Given the description of an element on the screen output the (x, y) to click on. 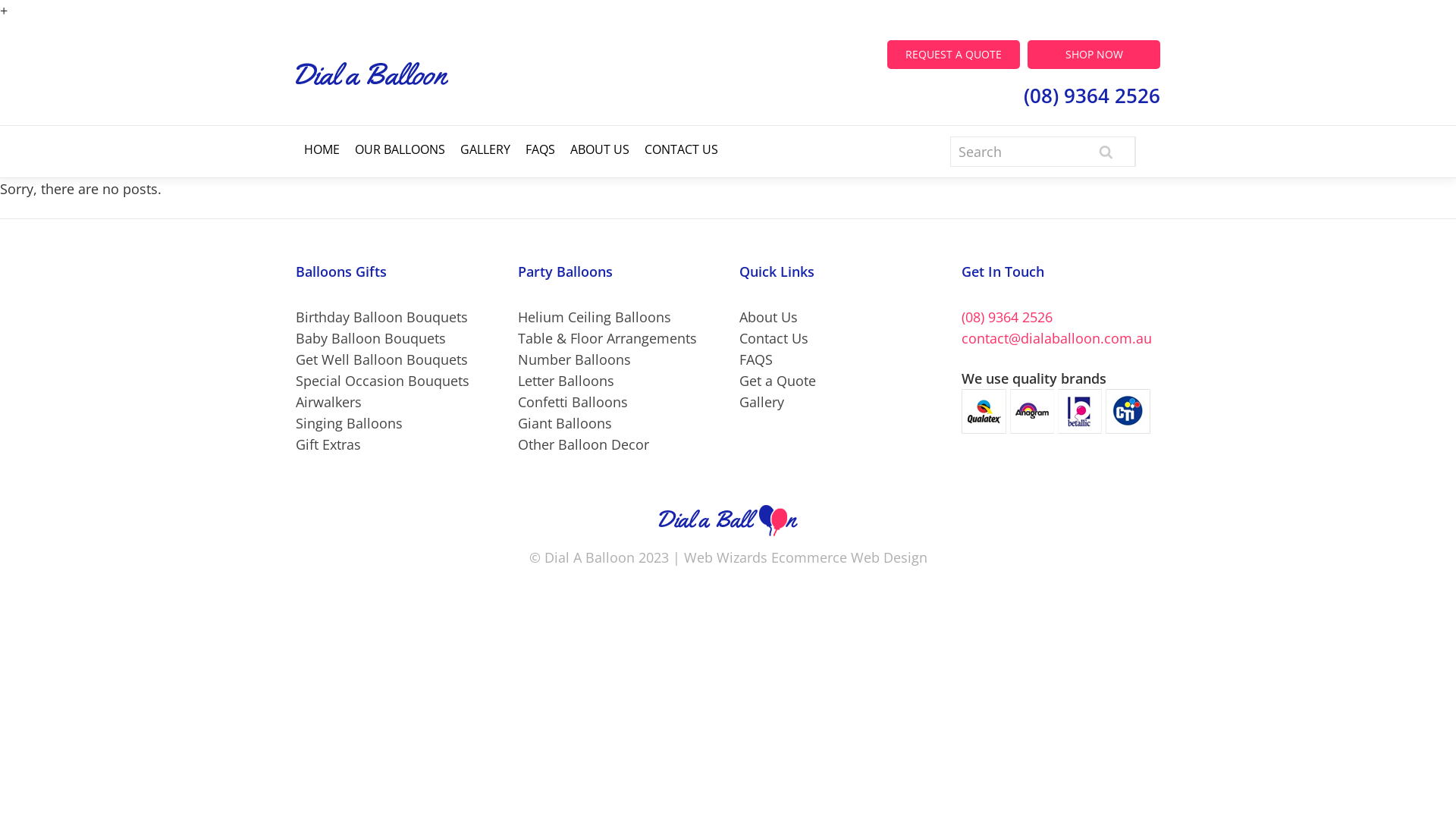
(08) 9364 2526 Element type: text (1006, 316)
Contact Us Element type: text (773, 338)
GALLERY Element type: text (484, 149)
OUR BALLOONS Element type: text (399, 149)
SHOP NOW Element type: text (1093, 54)
Get Well Balloon Bouquets Element type: text (381, 359)
SHOP NOW Element type: text (1093, 50)
HOME Element type: text (321, 149)
About Us Element type: text (768, 316)
contact@dialaballoon.com.au Element type: text (1056, 338)
Gift Extras Element type: text (327, 444)
CONTACT US Element type: text (681, 149)
Web Wizards Element type: text (725, 557)
FAQS Element type: text (755, 359)
Helium Ceiling Balloons Element type: text (593, 316)
Search Element type: text (1104, 151)
ABOUT US Element type: text (599, 149)
Birthday Balloon Bouquets Element type: text (381, 316)
Get a Quote Element type: text (777, 380)
FAQS Element type: text (539, 149)
Singing Balloons Element type: text (348, 423)
Gallery Element type: text (761, 401)
Confetti Balloons Element type: text (572, 401)
Airwalkers Element type: text (328, 401)
REQUEST A QUOTE Element type: text (953, 54)
REQUEST A QUOTE Element type: text (953, 50)
Table & Floor Arrangements Element type: text (606, 338)
Baby Balloon Bouquets Element type: text (370, 338)
Number Balloons Element type: text (573, 359)
Special Occasion Bouquets Element type: text (382, 380)
Letter Balloons Element type: text (565, 380)
Giant Balloons Element type: text (564, 423)
Other Balloon Decor Element type: text (582, 444)
